Given the description of an element on the screen output the (x, y) to click on. 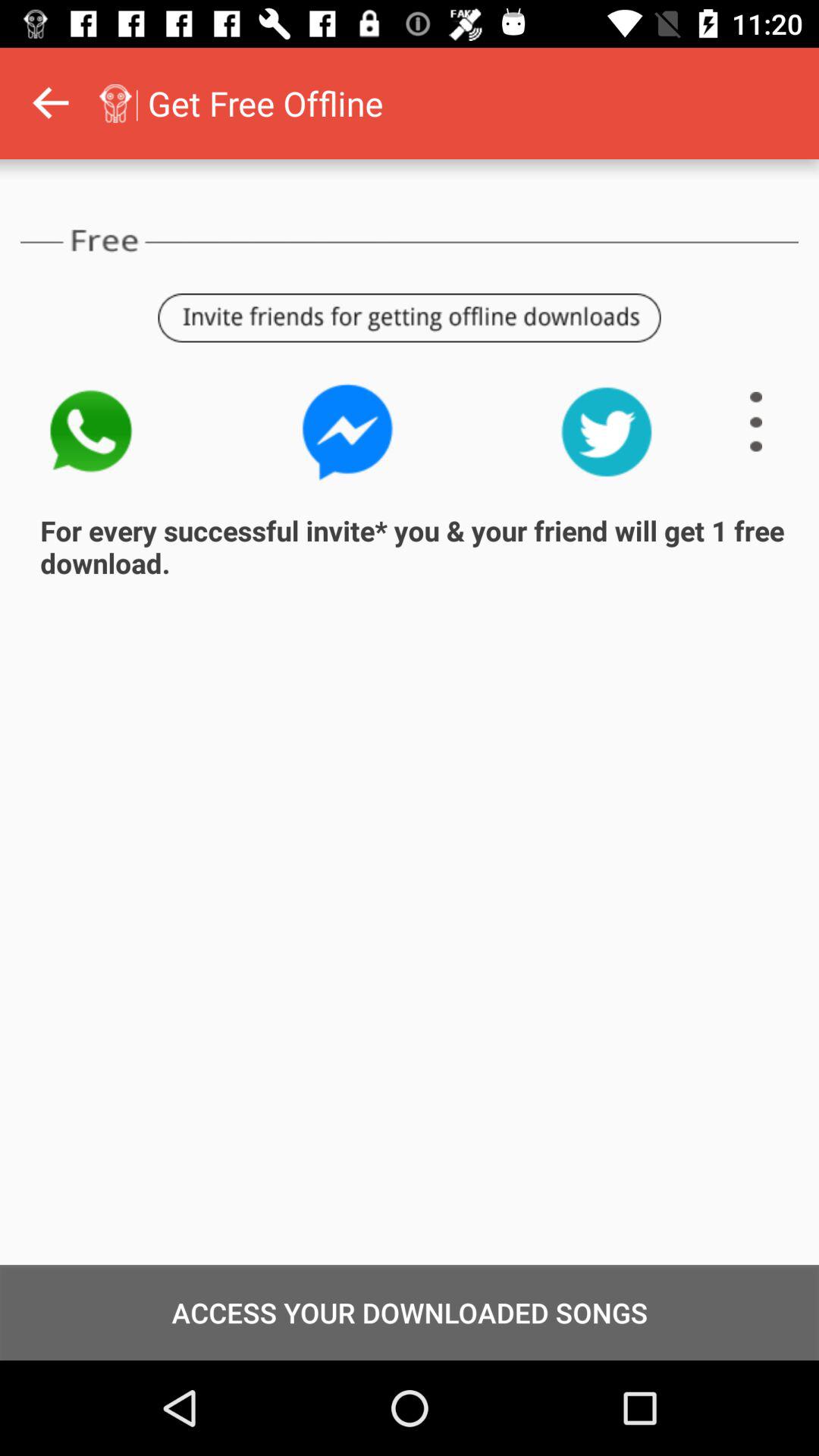
turn off access your downloaded item (409, 1312)
